Given the description of an element on the screen output the (x, y) to click on. 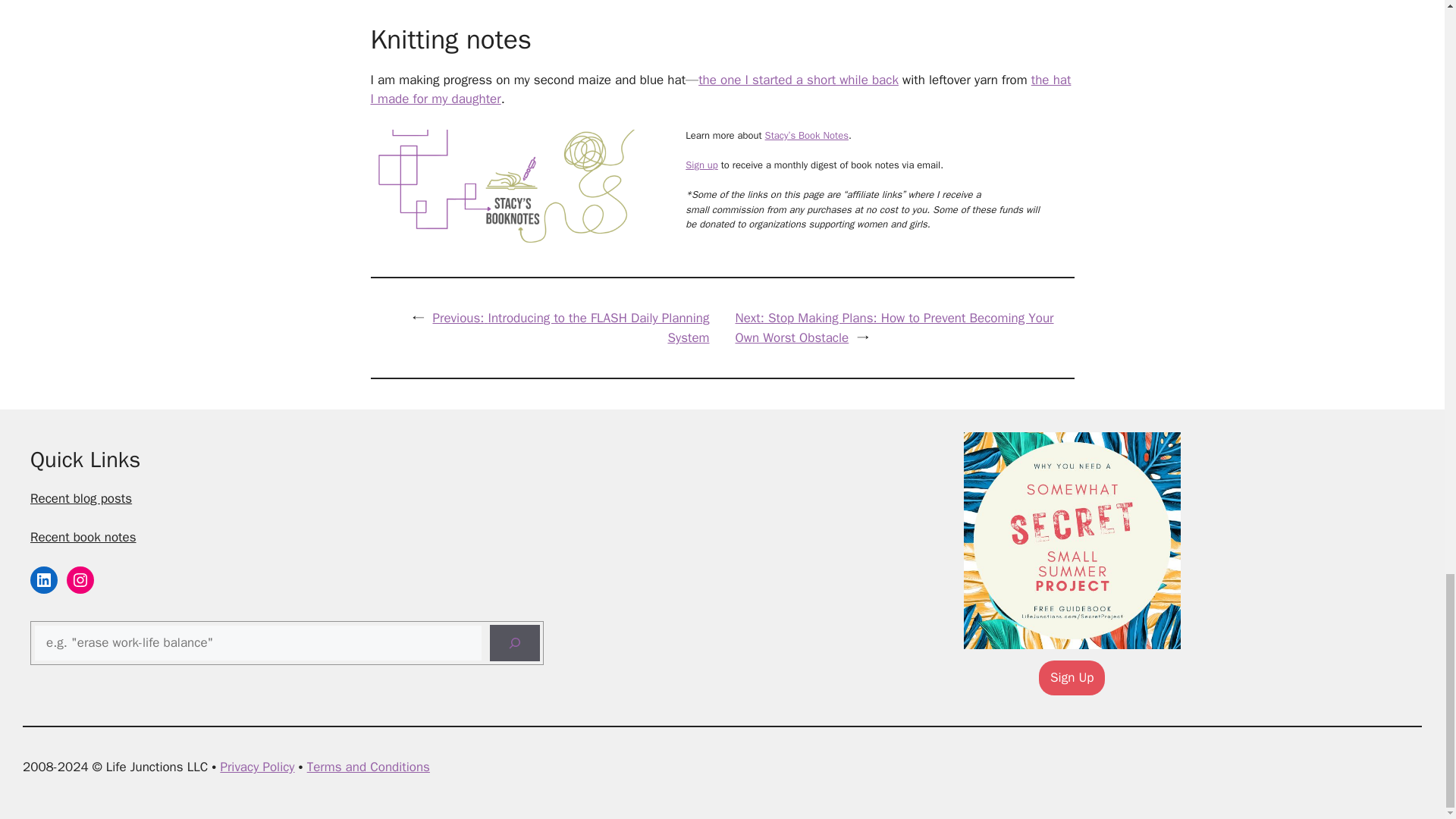
Recent blog posts (81, 498)
the hat I made for my daughter (719, 89)
LinkedIn (44, 579)
Recent book notes (83, 537)
Instagram (80, 579)
Sign up (701, 164)
contact me (400, 1)
Previous: Introducing to the FLASH Daily Planning System (570, 327)
the one I started a short while back (798, 79)
